Given the description of an element on the screen output the (x, y) to click on. 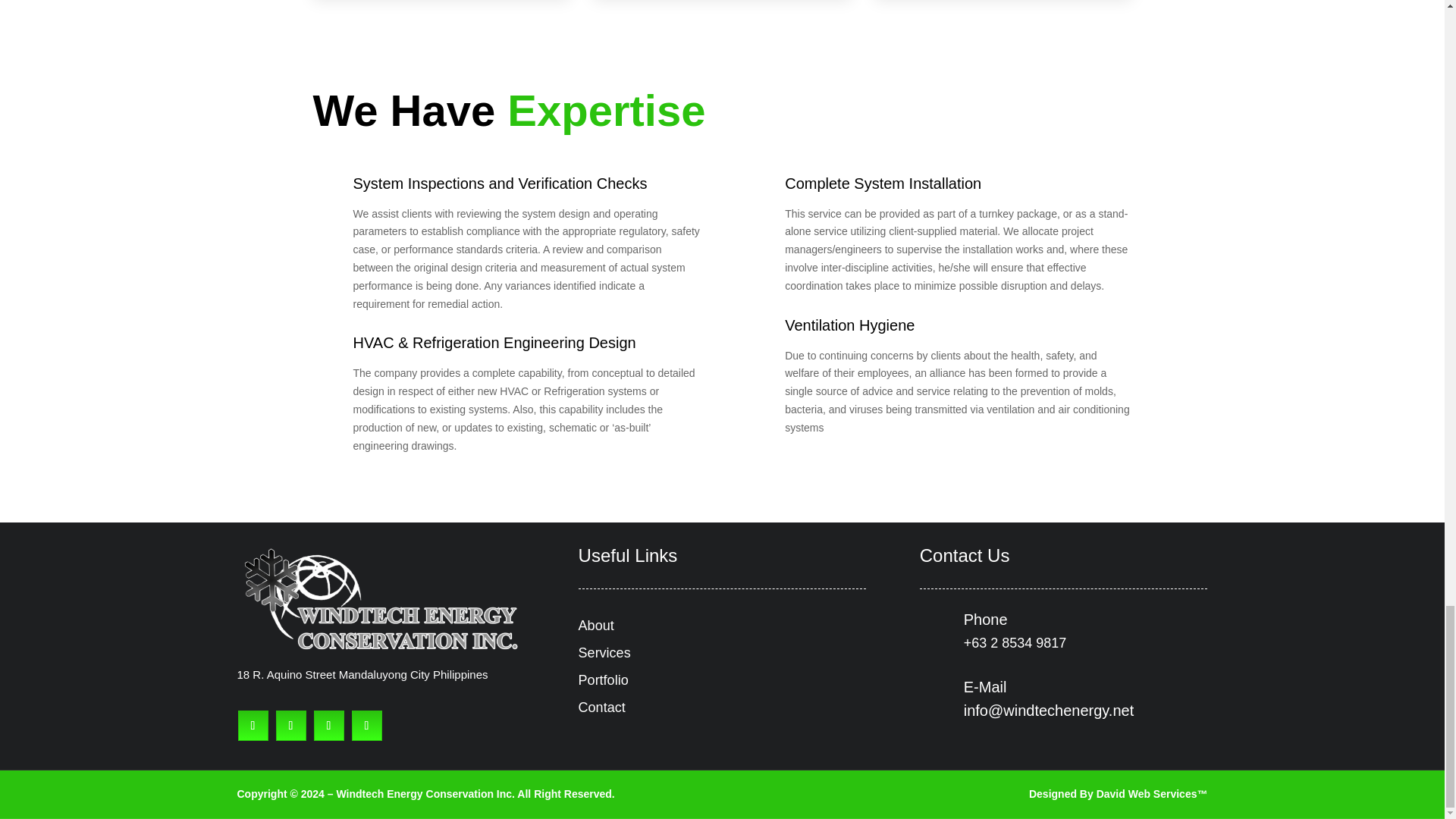
Contact (602, 707)
Follow on Twitter (290, 725)
WINDTECH ENERGY CONSERVATION INC - LOGO (379, 598)
Follow on LinkedIn (328, 725)
Portfolio (603, 679)
About (596, 625)
David Web Services (1146, 793)
Services (604, 652)
Follow on Facebook (252, 725)
Follow on Instagram (366, 725)
